Given the description of an element on the screen output the (x, y) to click on. 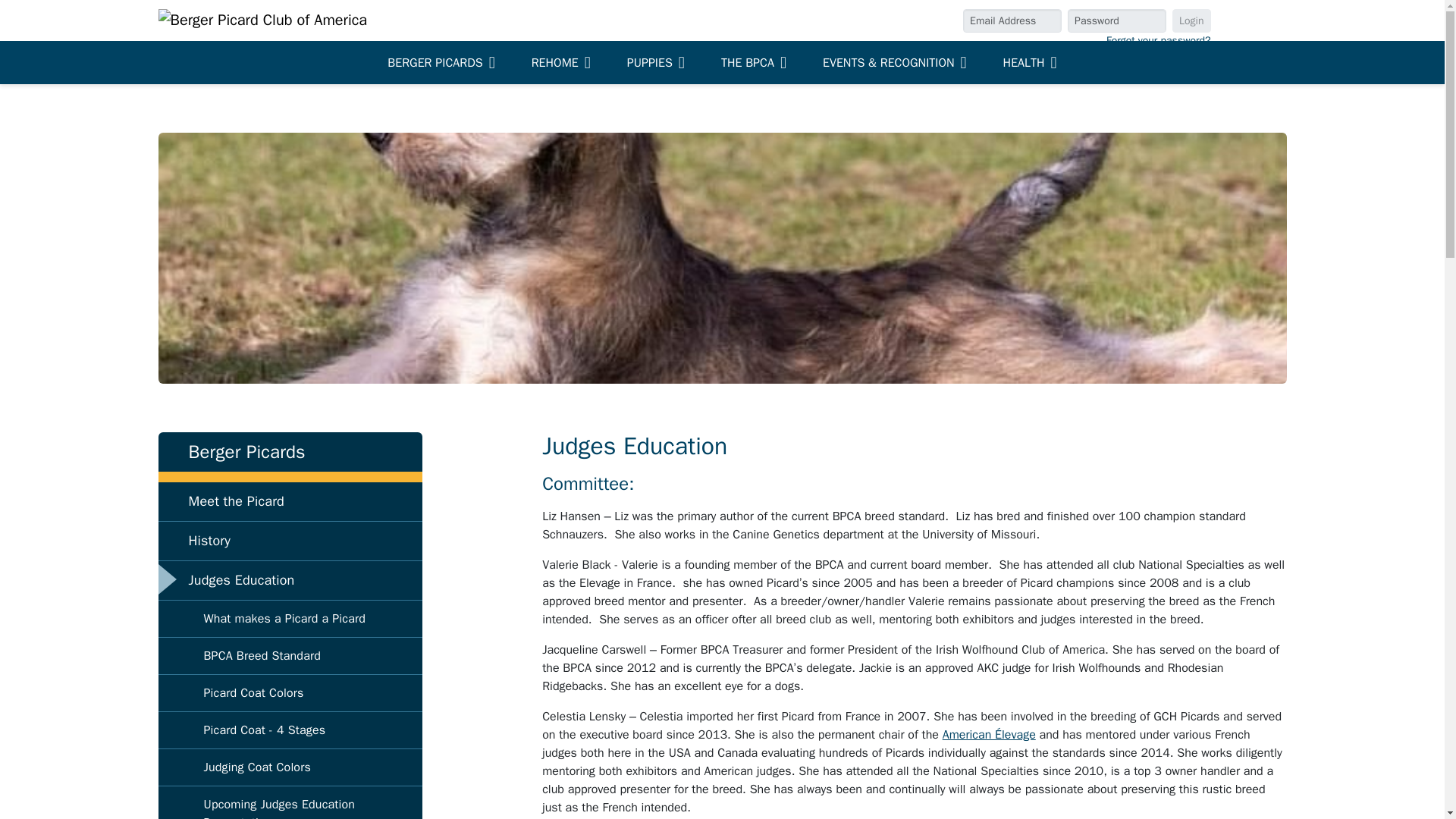
BERGER PICARDS (440, 62)
Forgot your password? (1158, 40)
Login (1190, 20)
